Given the description of an element on the screen output the (x, y) to click on. 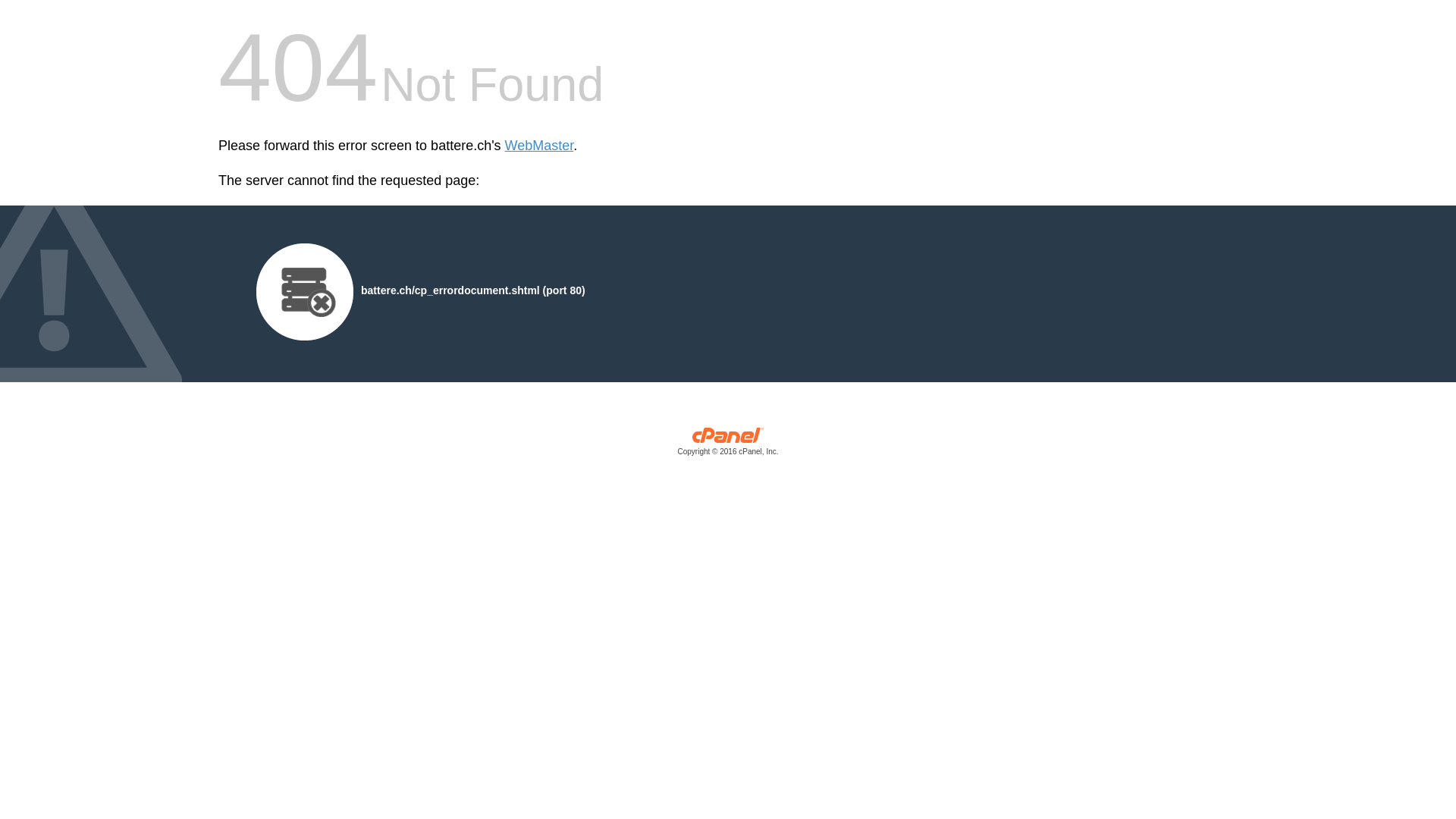
WebMaster Element type: text (539, 145)
